Given the description of an element on the screen output the (x, y) to click on. 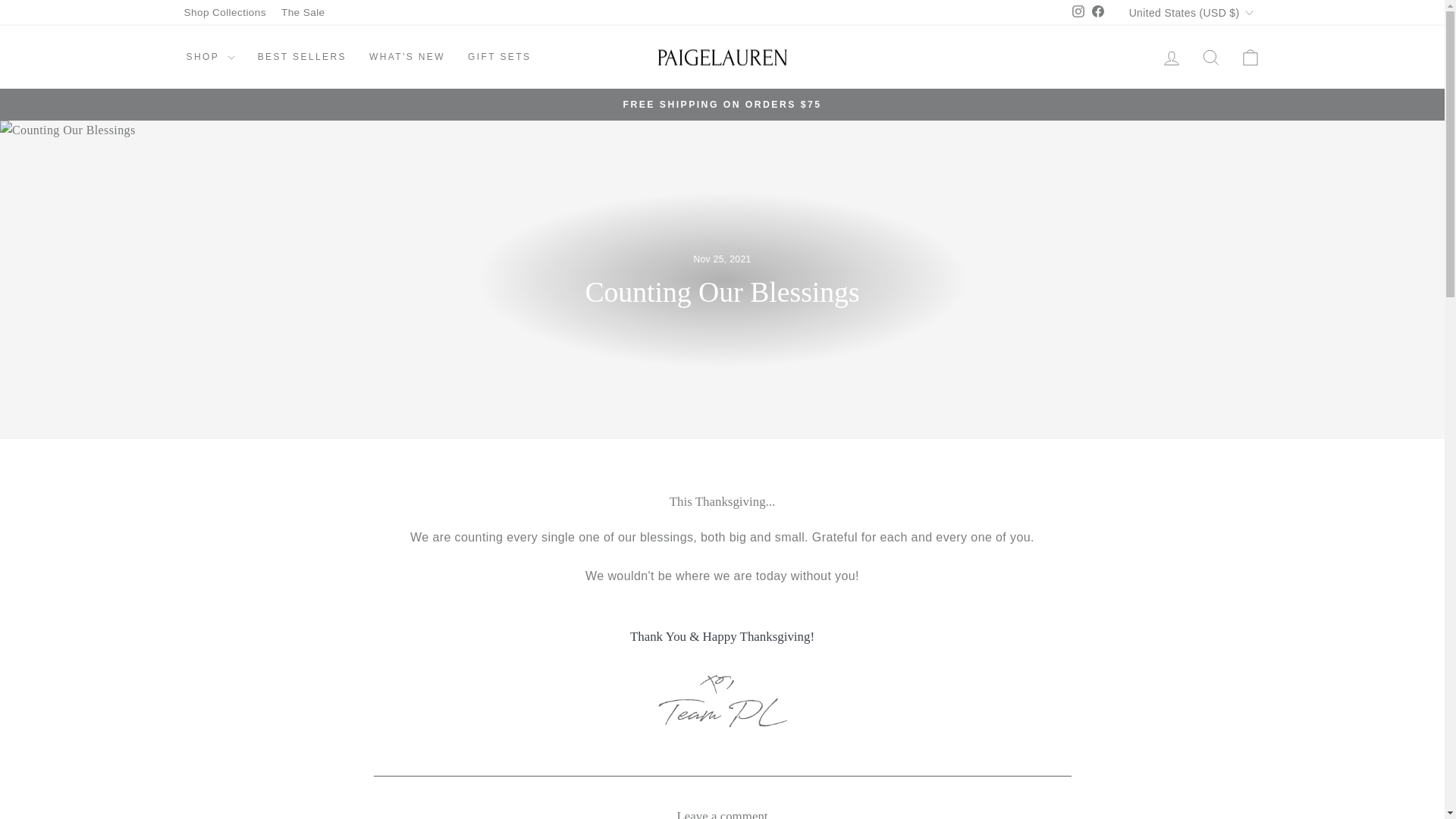
ICON-BAG-MINIMAL (1249, 56)
instagram (1077, 10)
ICON-SEARCH (1210, 56)
ACCOUNT (1170, 57)
